Given the description of an element on the screen output the (x, y) to click on. 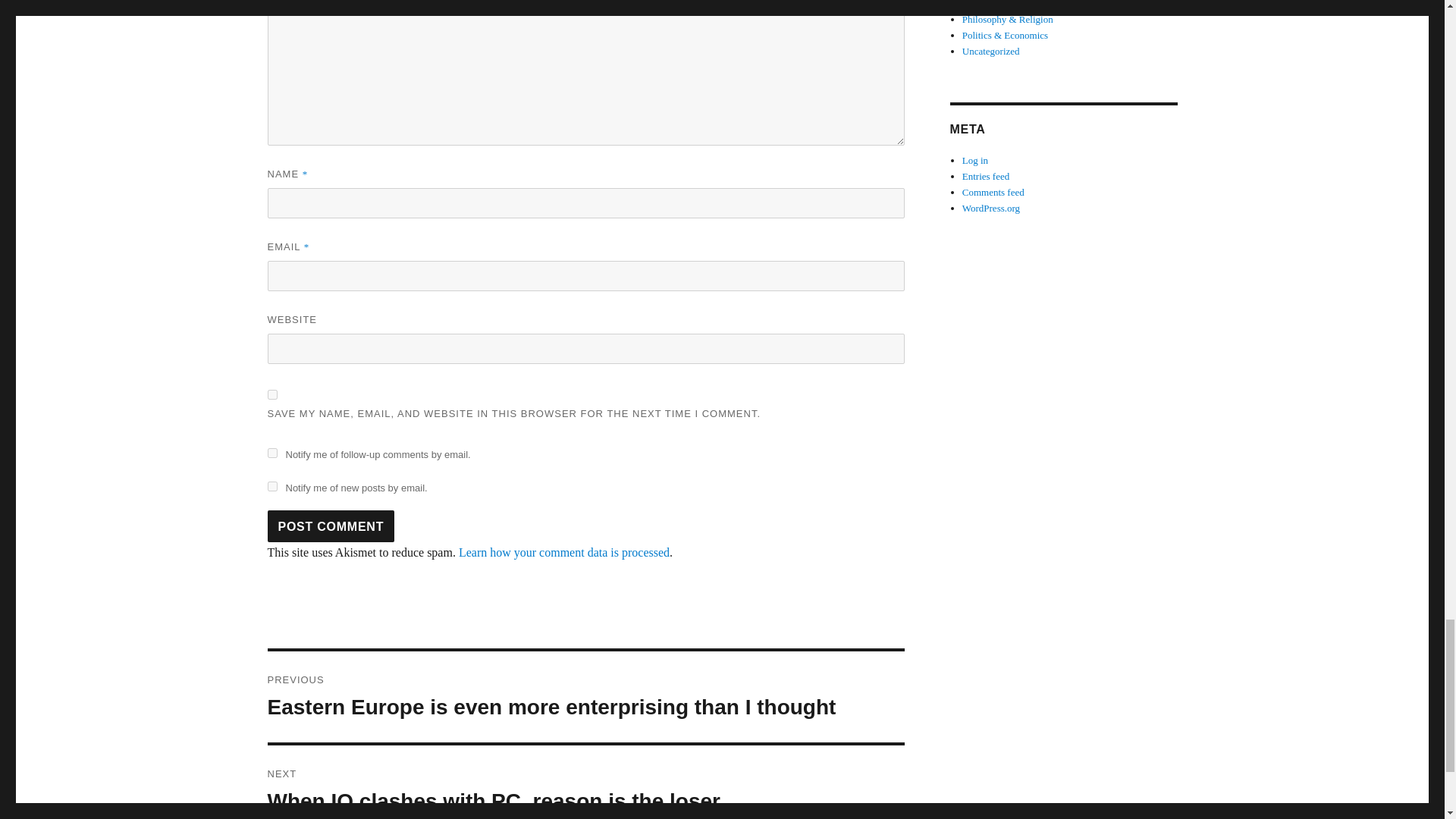
yes (271, 394)
Learn how your comment data is processed (563, 552)
Post Comment (585, 782)
subscribe (330, 526)
subscribe (271, 452)
Post Comment (271, 486)
